Given the description of an element on the screen output the (x, y) to click on. 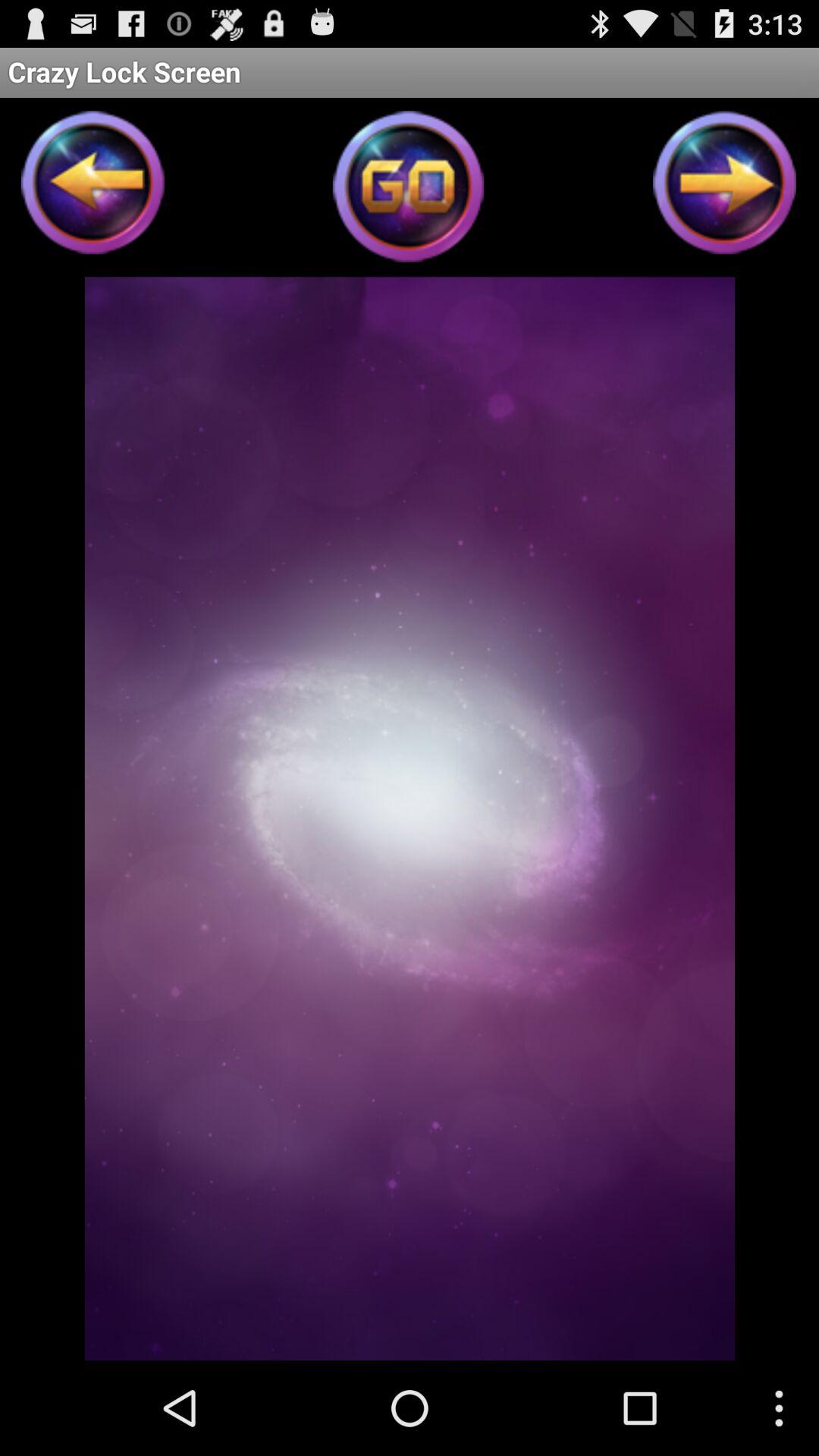
go forward (725, 186)
